Given the description of an element on the screen output the (x, y) to click on. 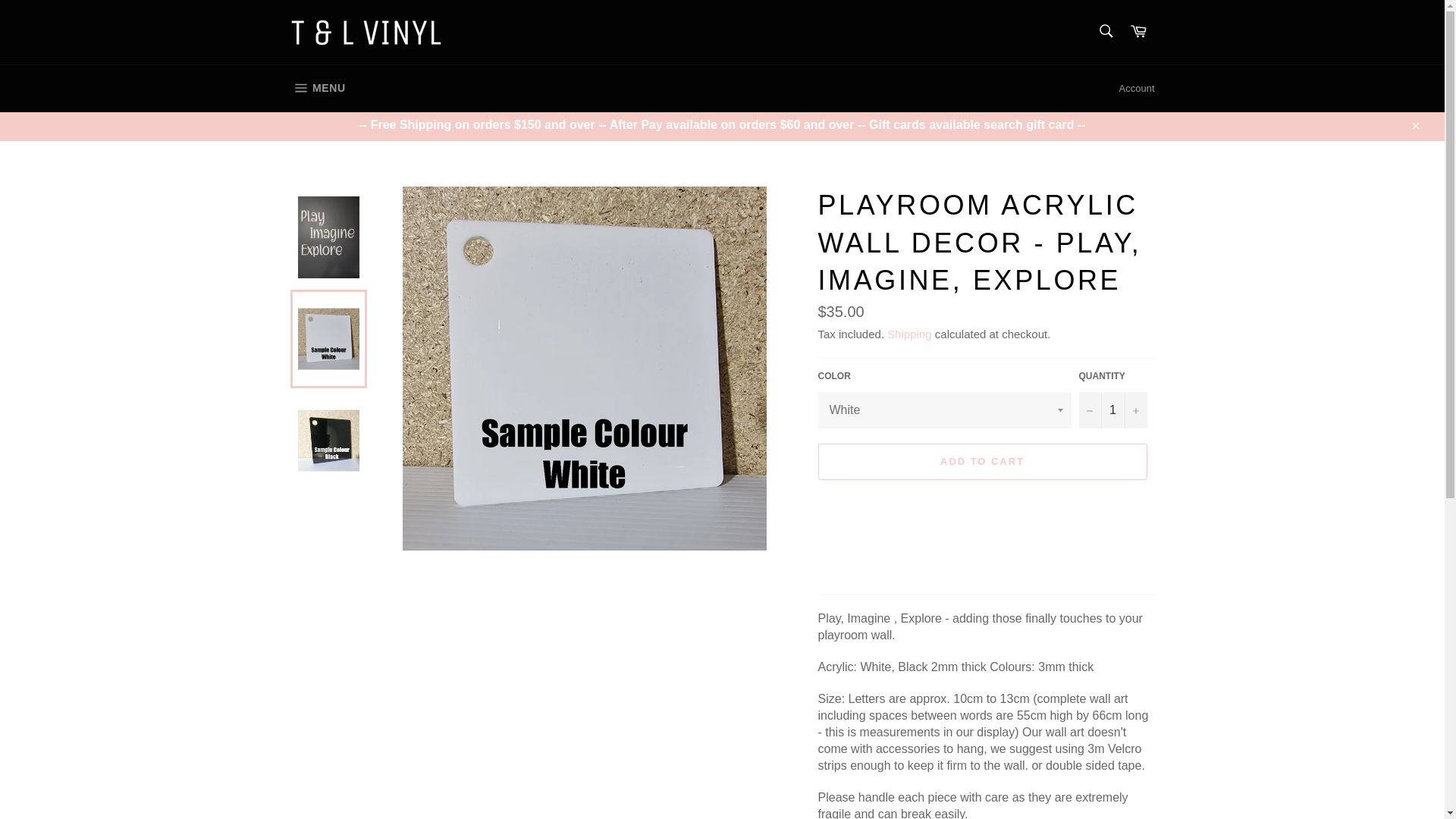
Search (1104, 30)
1 (1112, 410)
Cart (1138, 32)
